Given the description of an element on the screen output the (x, y) to click on. 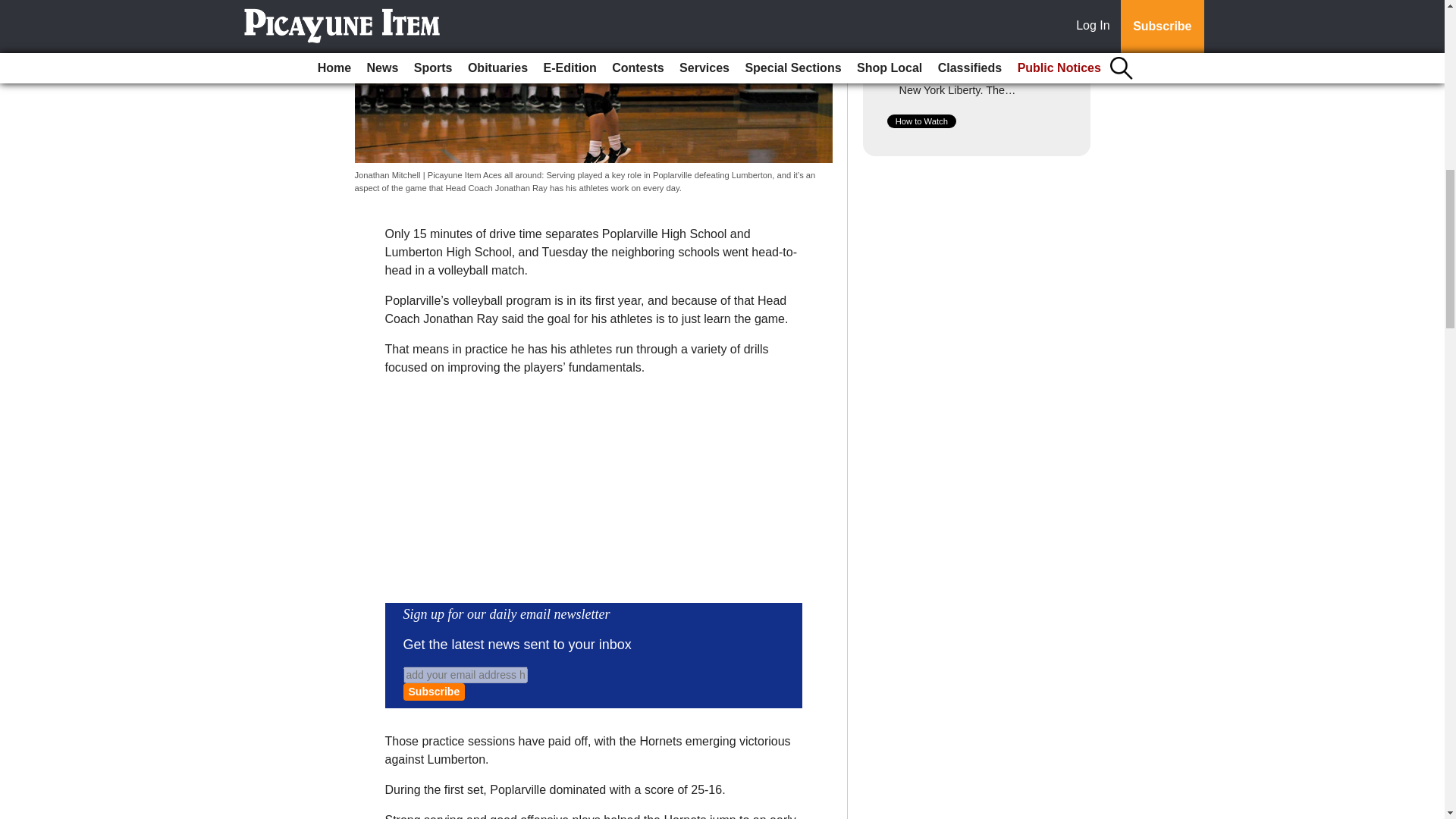
Subscribe (434, 692)
Subscribe (434, 692)
